Given the description of an element on the screen output the (x, y) to click on. 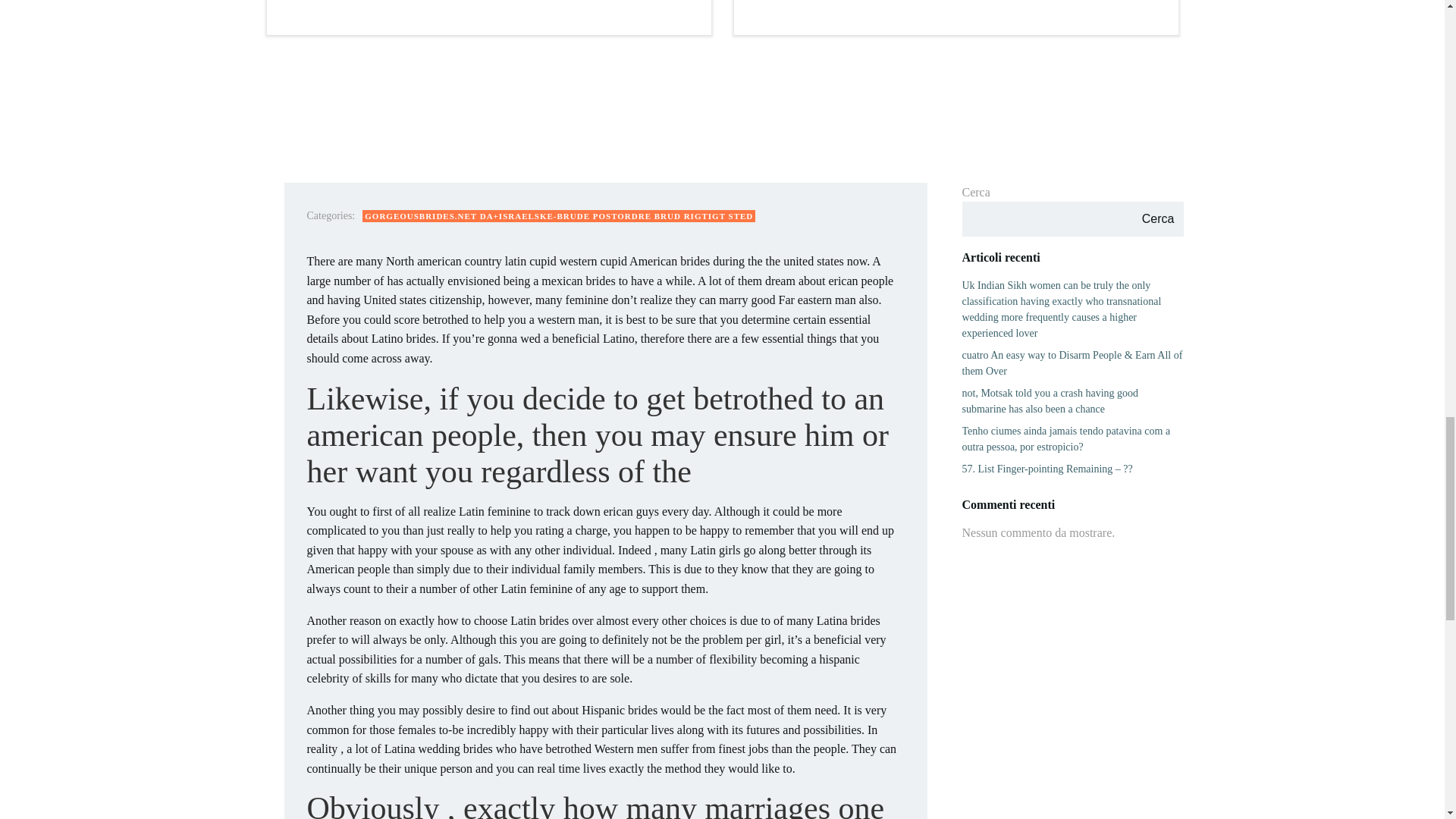
Cerca (1157, 218)
